Given the description of an element on the screen output the (x, y) to click on. 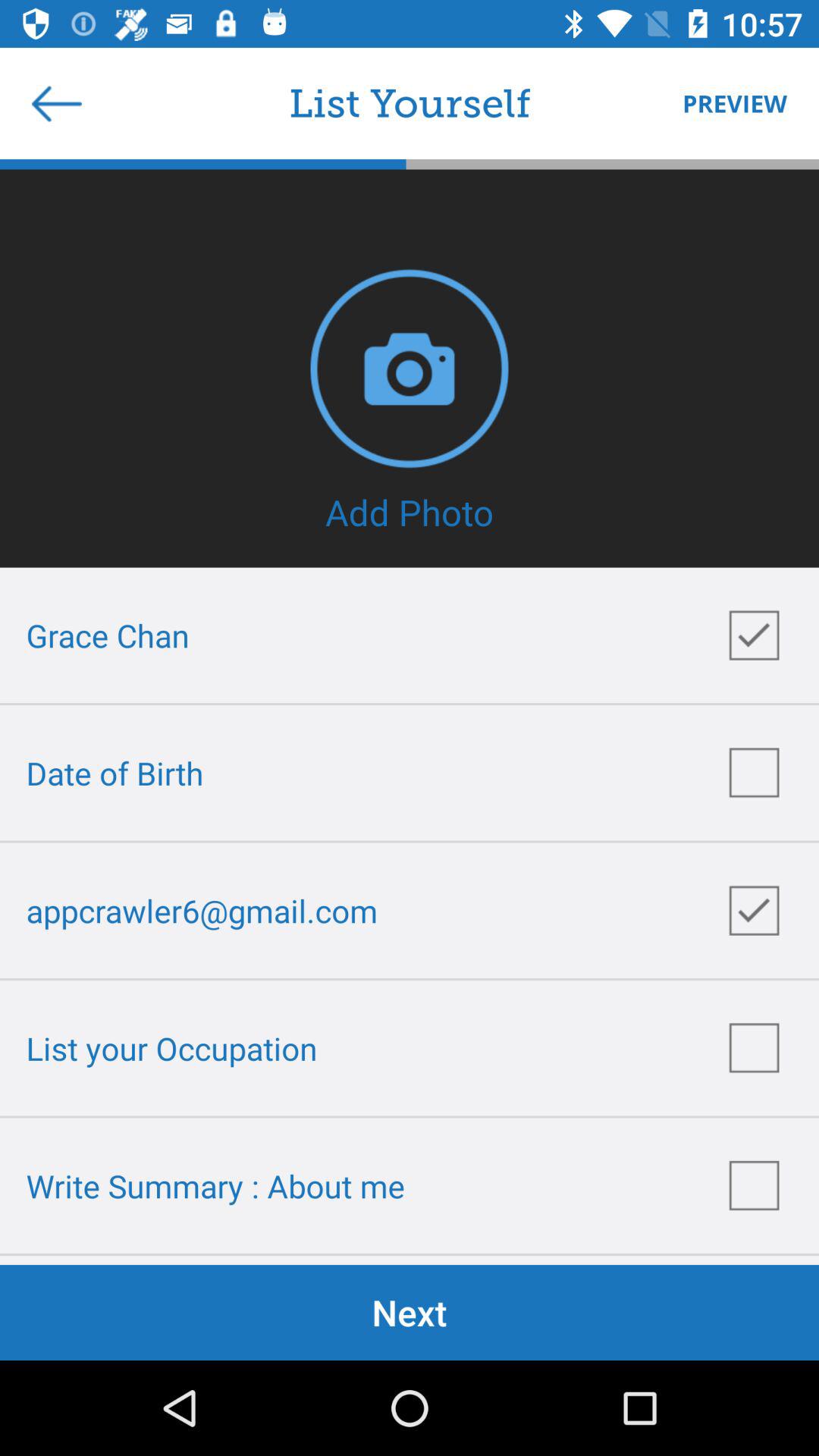
camera to add photo (409, 368)
